Given the description of an element on the screen output the (x, y) to click on. 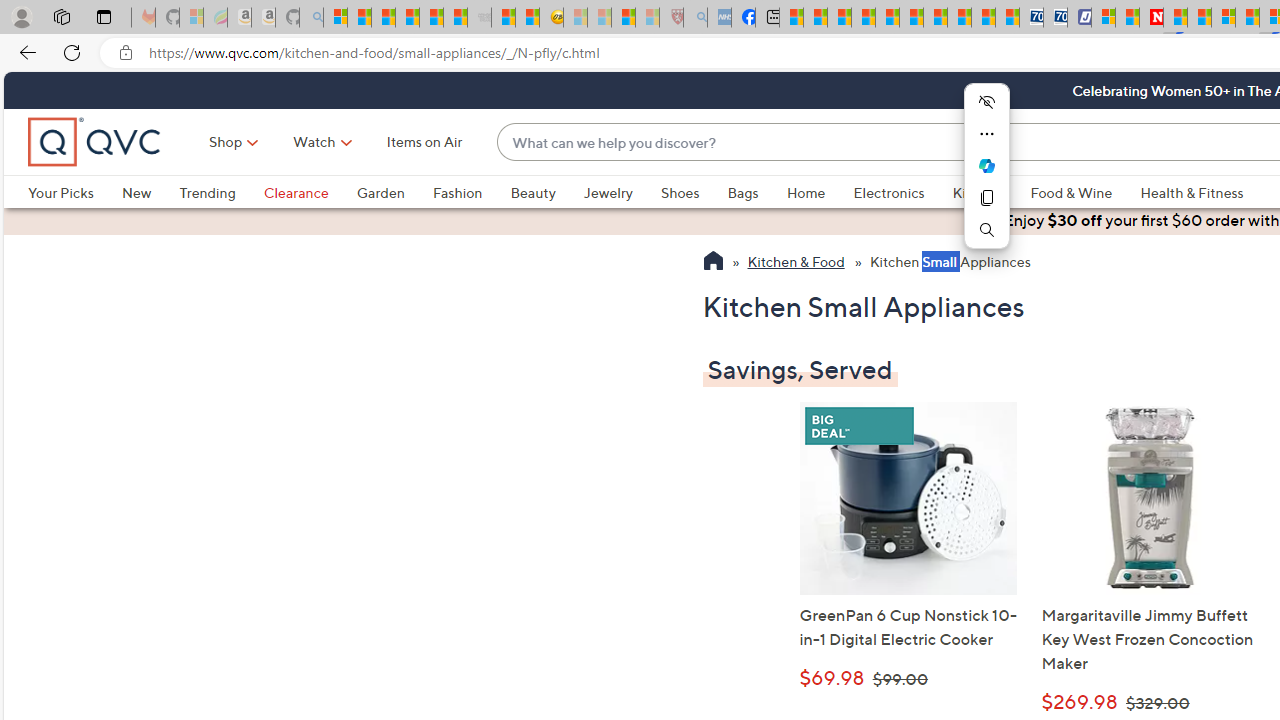
New (136, 192)
Shop (226, 141)
Kitchen & Food (795, 263)
Garden (379, 192)
Jewelry (607, 192)
12 Popular Science Lies that Must be Corrected - Sleeping (647, 17)
Recipes - MSN - Sleeping (575, 17)
